Given the description of an element on the screen output the (x, y) to click on. 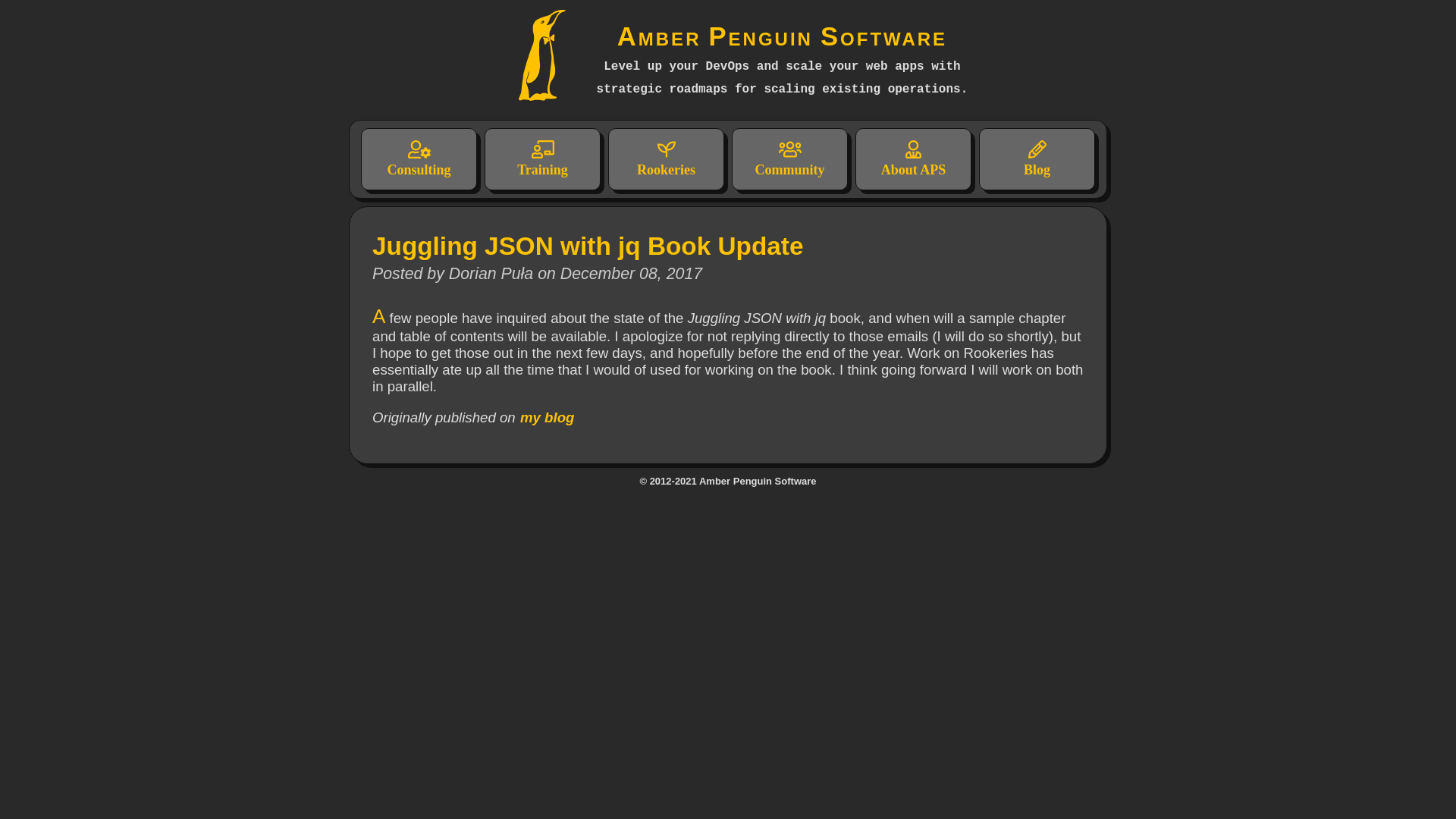
my blog (547, 416)
Community (789, 158)
Rookeries (665, 158)
Training (541, 158)
About APS (913, 158)
Consulting (419, 158)
Blog (1036, 158)
